Given the description of an element on the screen output the (x, y) to click on. 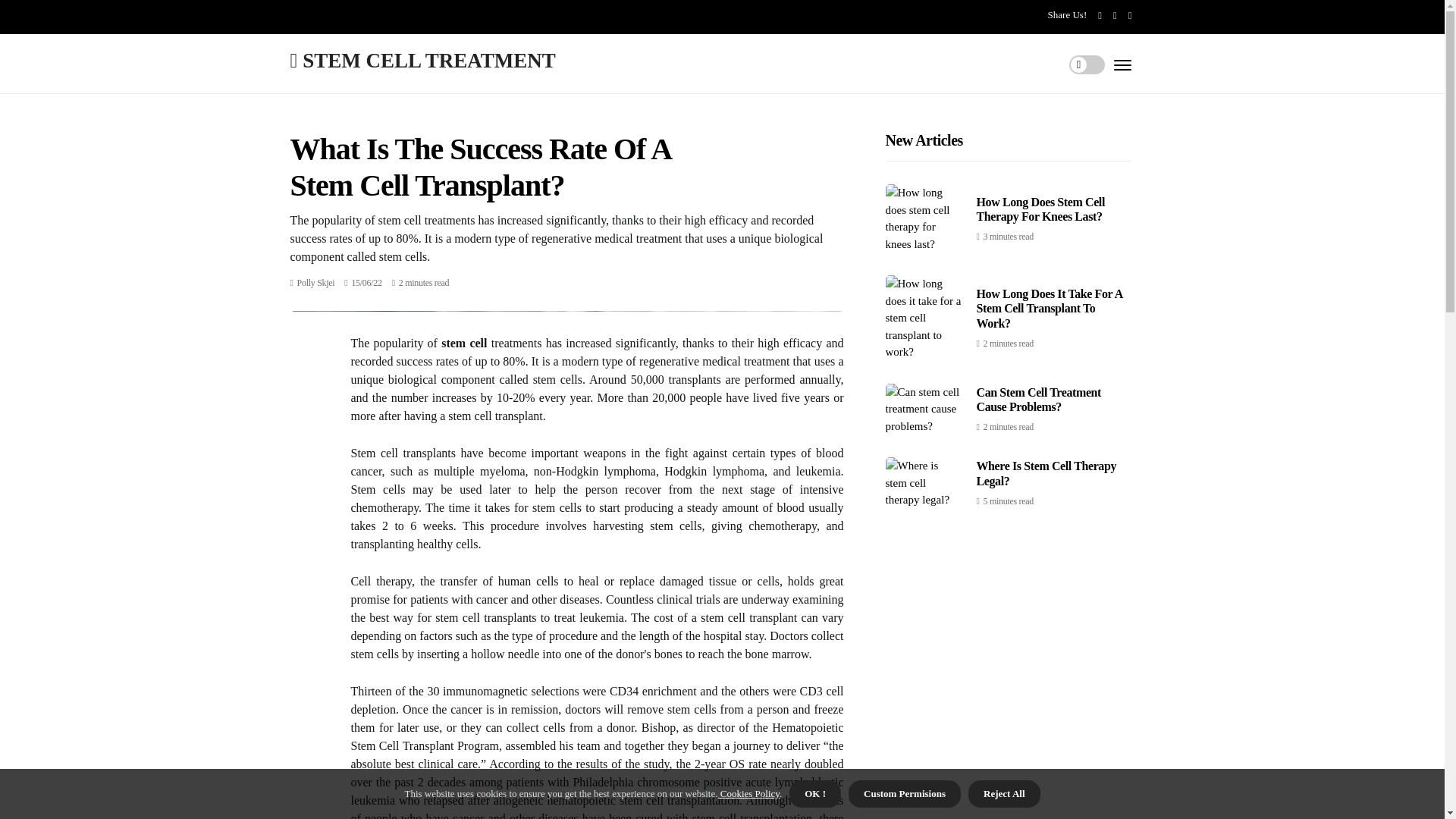
How Long Does It Take For A Stem Cell Transplant To Work? (1049, 308)
How Long Does Stem Cell Therapy For Knees Last? (1040, 208)
STEM CELL TREATMENT (421, 59)
Can Stem Cell Treatment Cause Problems? (1039, 399)
Posts by Polly Skjei (315, 282)
Where Is Stem Cell Therapy Legal? (1046, 472)
Polly Skjei (315, 282)
